Given the description of an element on the screen output the (x, y) to click on. 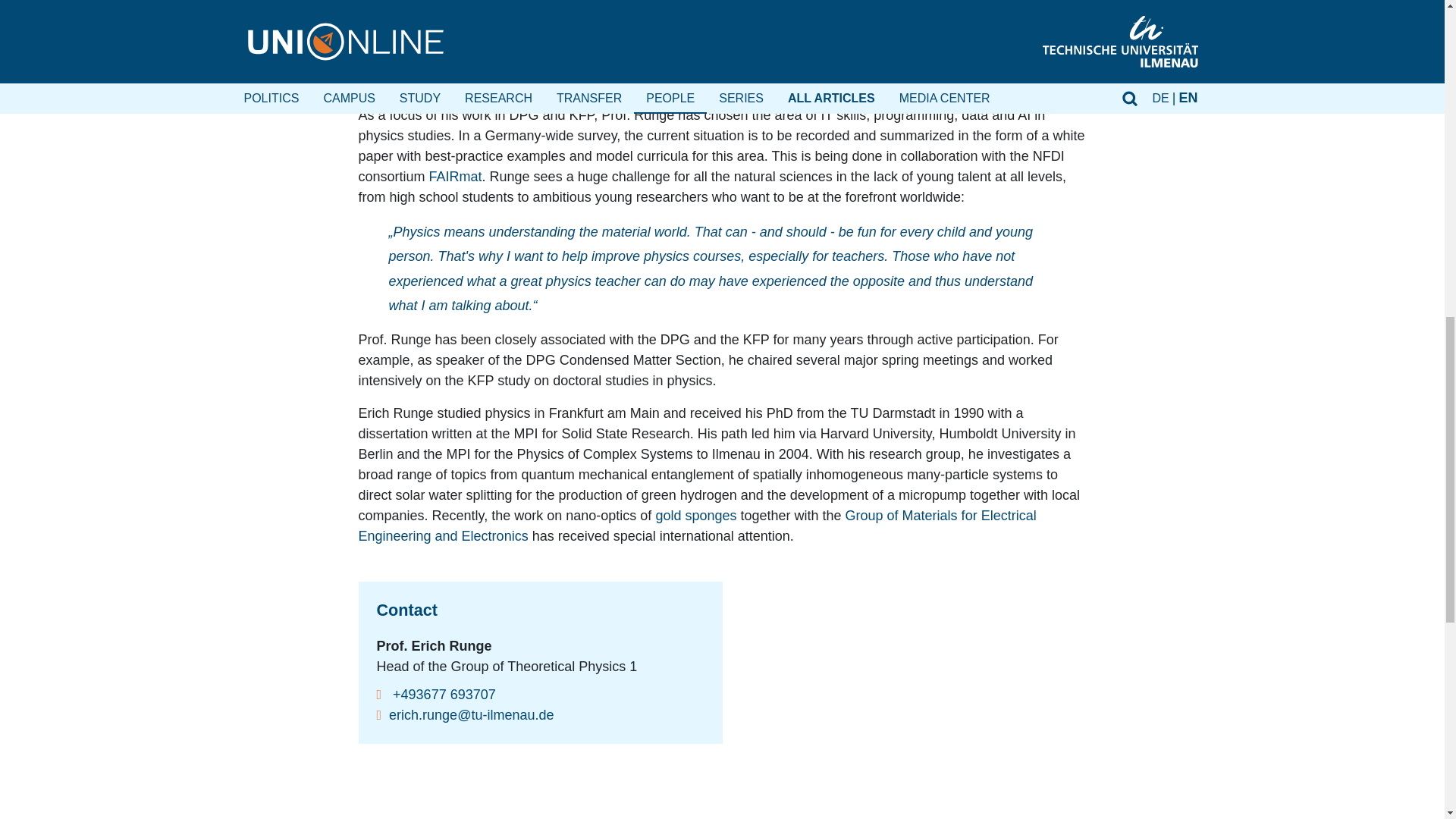
gold sponges (697, 515)
FAIRmat (455, 176)
